Given the description of an element on the screen output the (x, y) to click on. 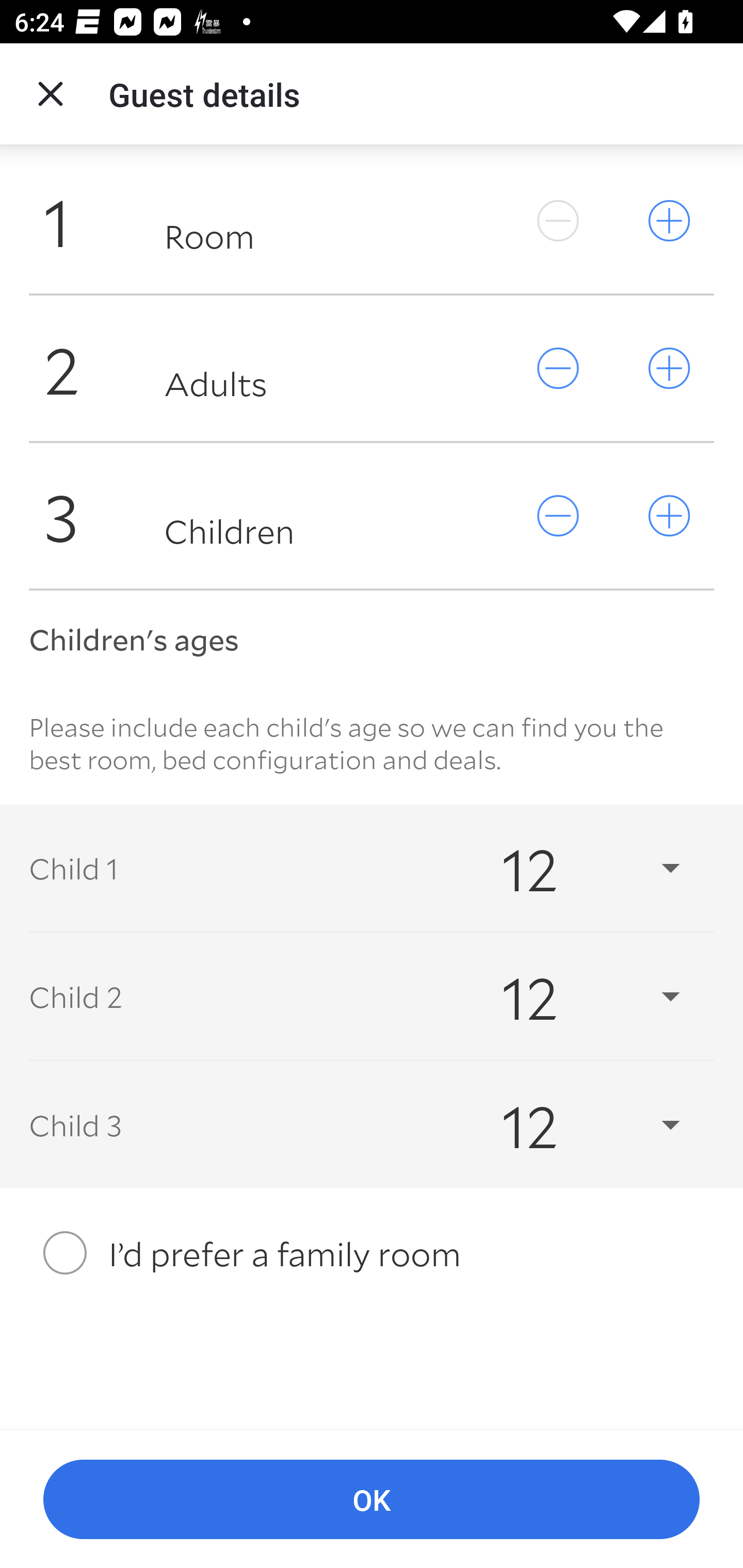
12 (573, 867)
12 (573, 996)
12 (573, 1125)
I’d prefer a family room (371, 1252)
OK (371, 1499)
